Given the description of an element on the screen output the (x, y) to click on. 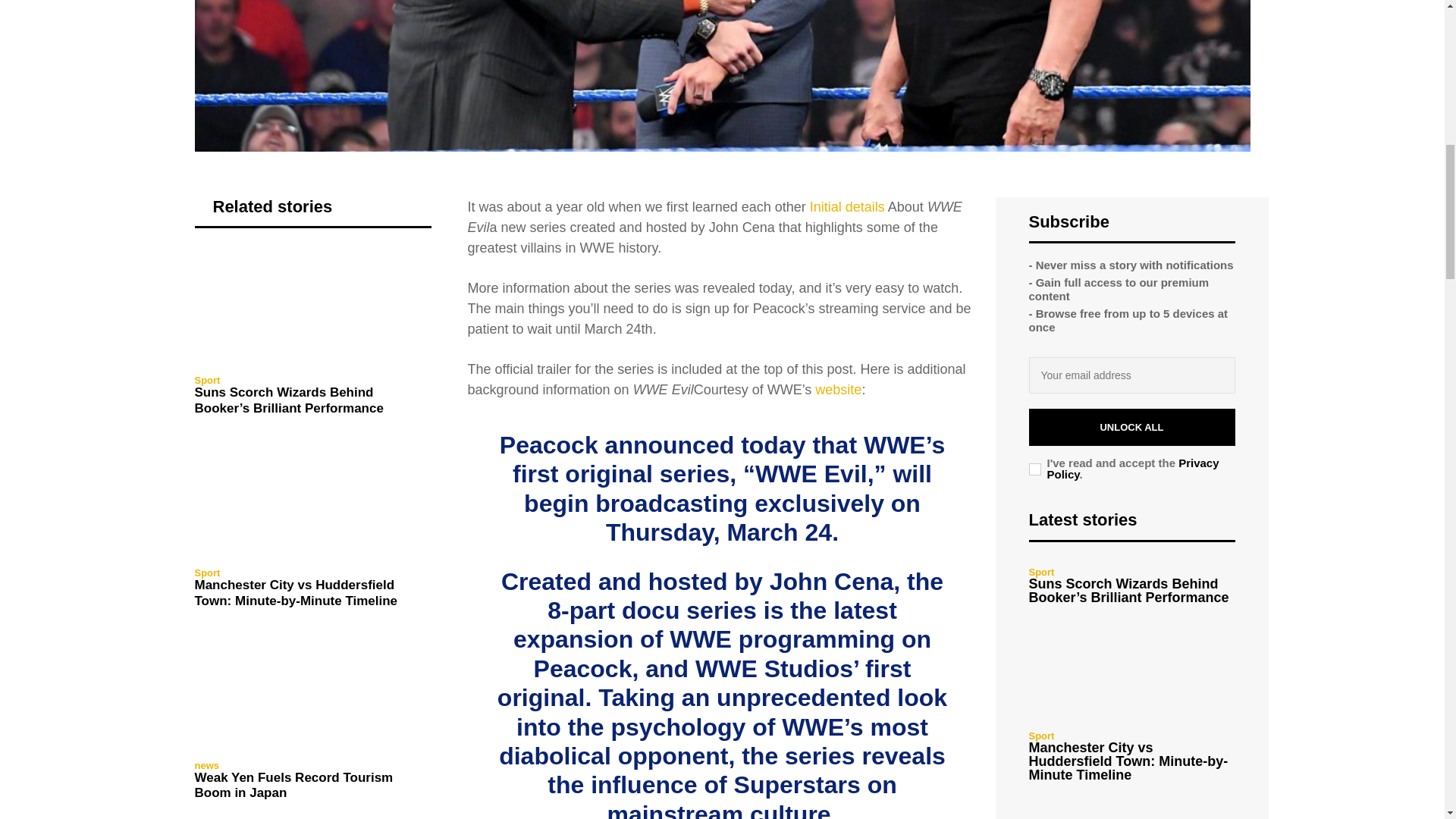
Sport (206, 379)
